Given the description of an element on the screen output the (x, y) to click on. 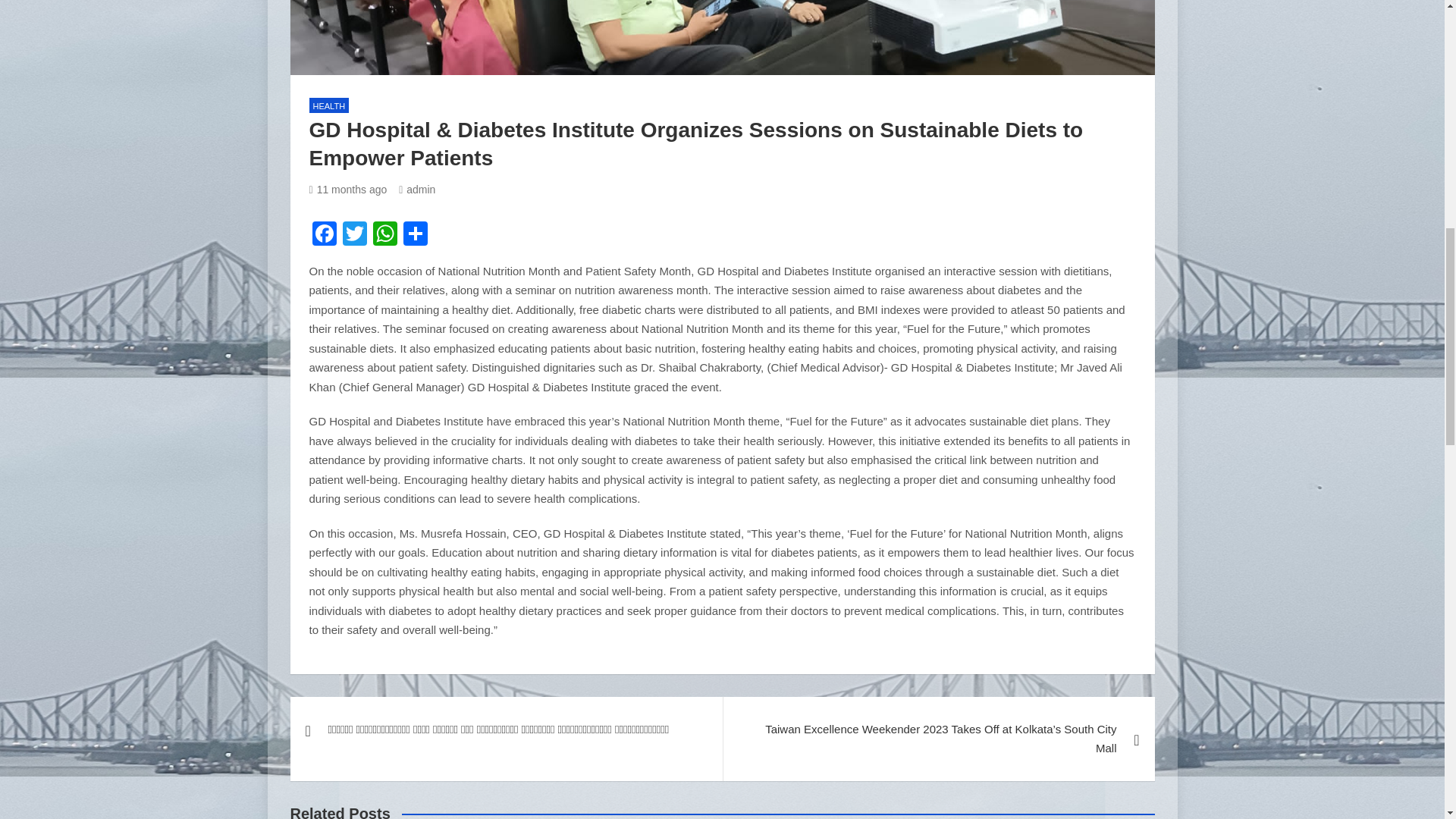
Facebook (323, 235)
11 months ago (347, 189)
admin (416, 189)
Twitter (354, 235)
WhatsApp (384, 235)
Facebook (323, 235)
WhatsApp (384, 235)
HEALTH (328, 105)
Twitter (354, 235)
